Given the description of an element on the screen output the (x, y) to click on. 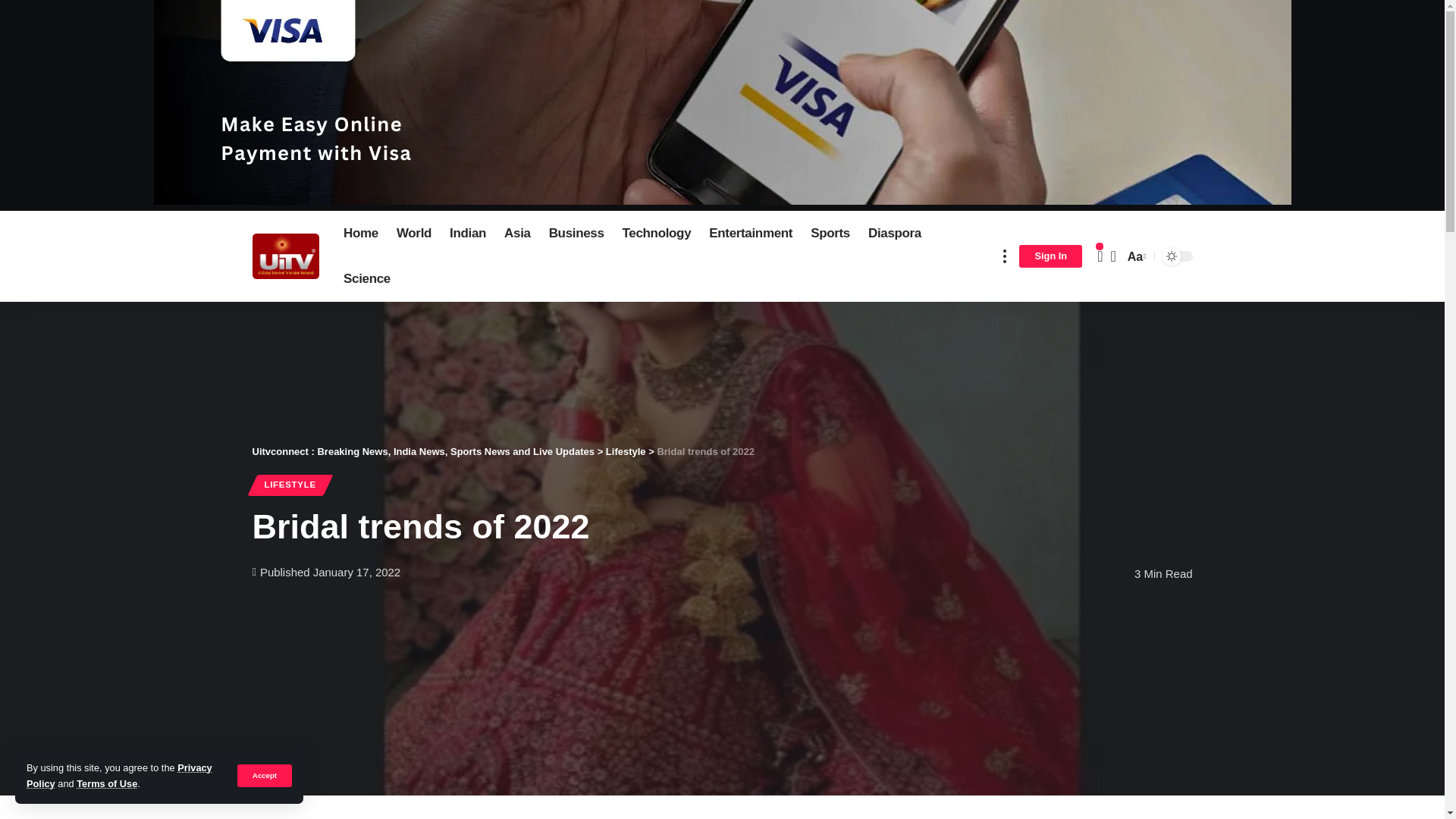
Technology (656, 233)
Home (360, 233)
World (414, 233)
Accept (264, 775)
Diaspora (894, 233)
Sports (830, 233)
Indian (468, 233)
Business (576, 233)
Science (366, 279)
